Given the description of an element on the screen output the (x, y) to click on. 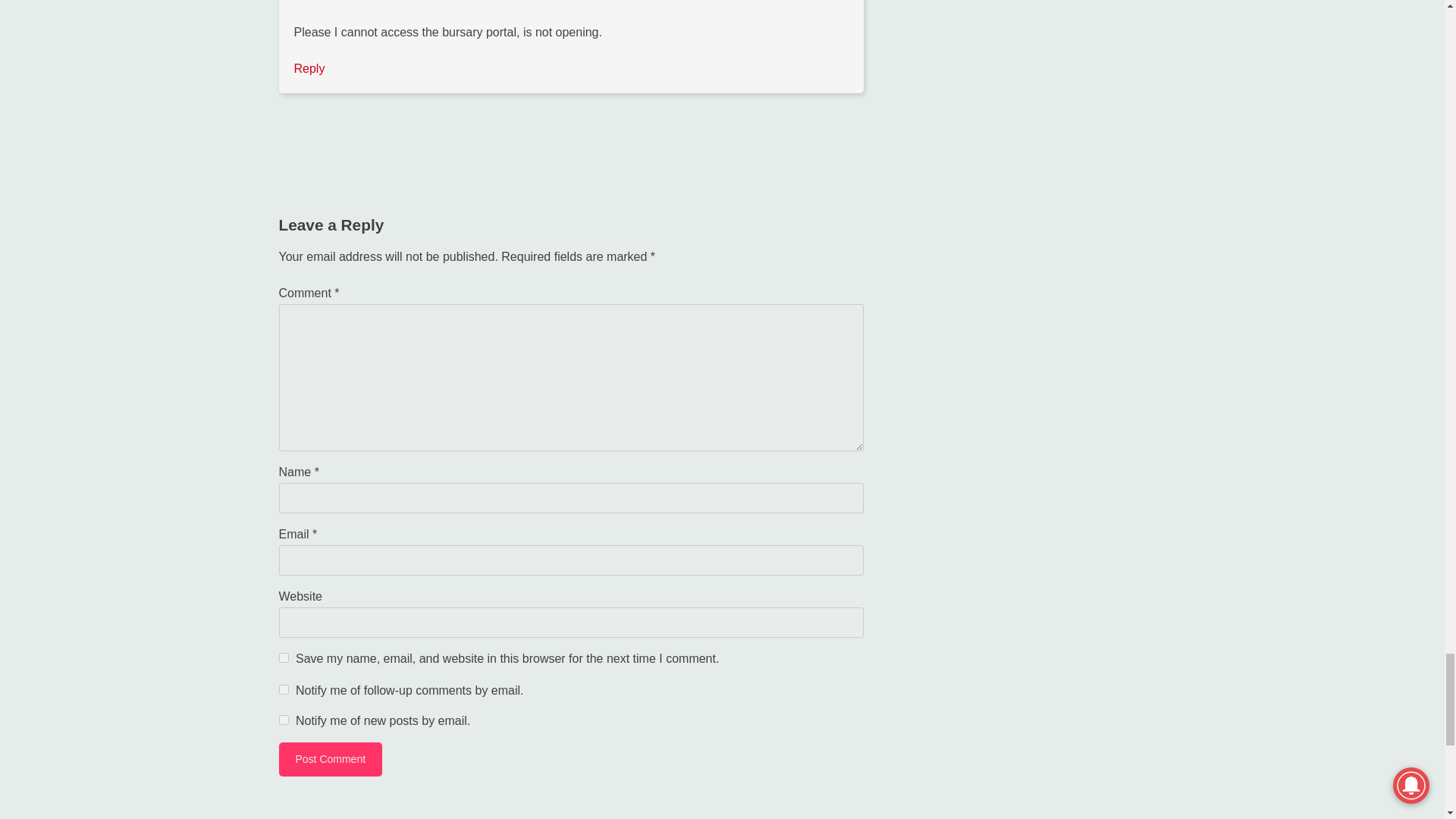
subscribe (283, 719)
yes (283, 657)
Post Comment (330, 759)
subscribe (283, 689)
